Given the description of an element on the screen output the (x, y) to click on. 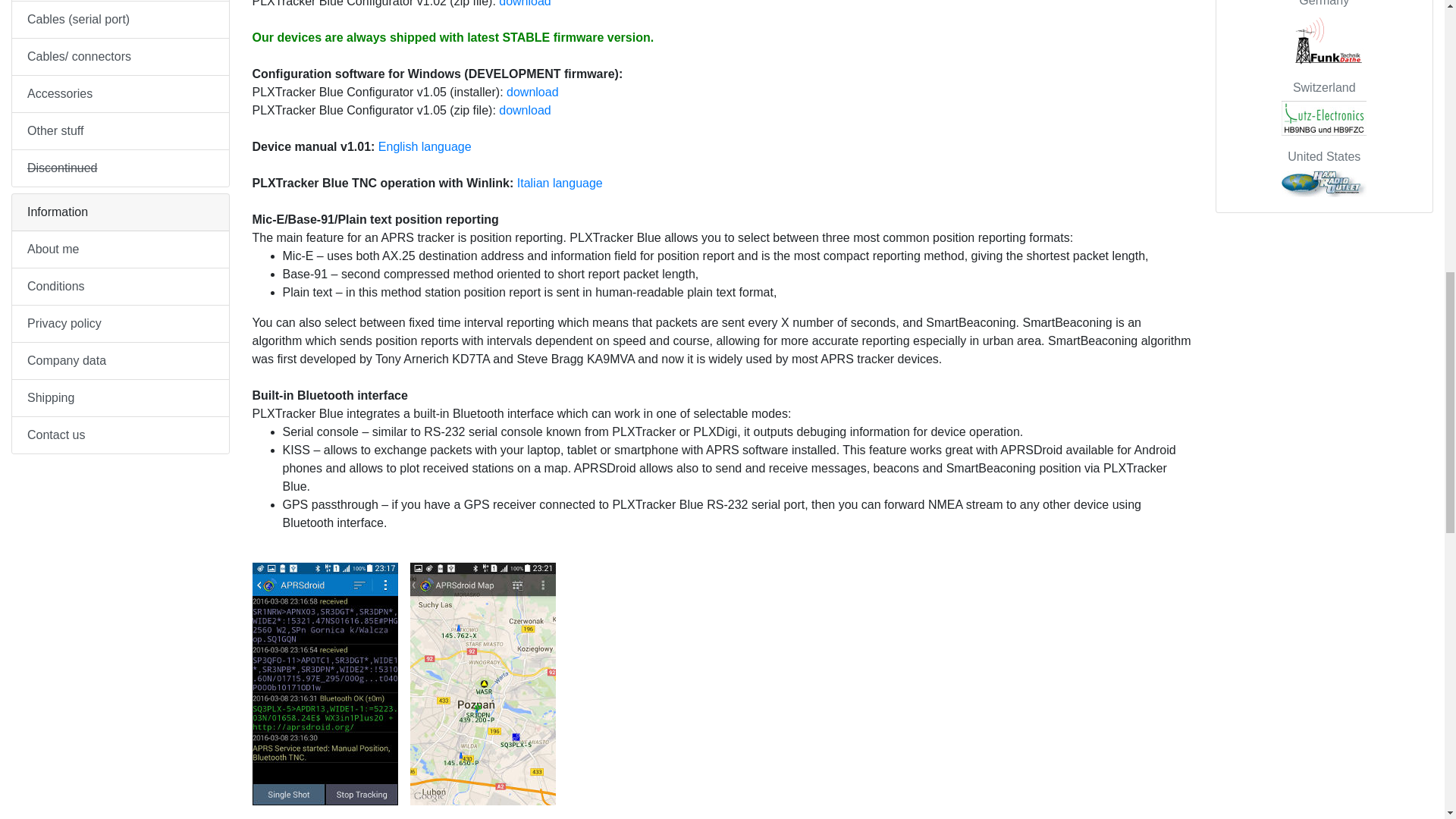
download (532, 91)
English language (424, 146)
download (525, 3)
download (525, 110)
Italian language (559, 182)
